Given the description of an element on the screen output the (x, y) to click on. 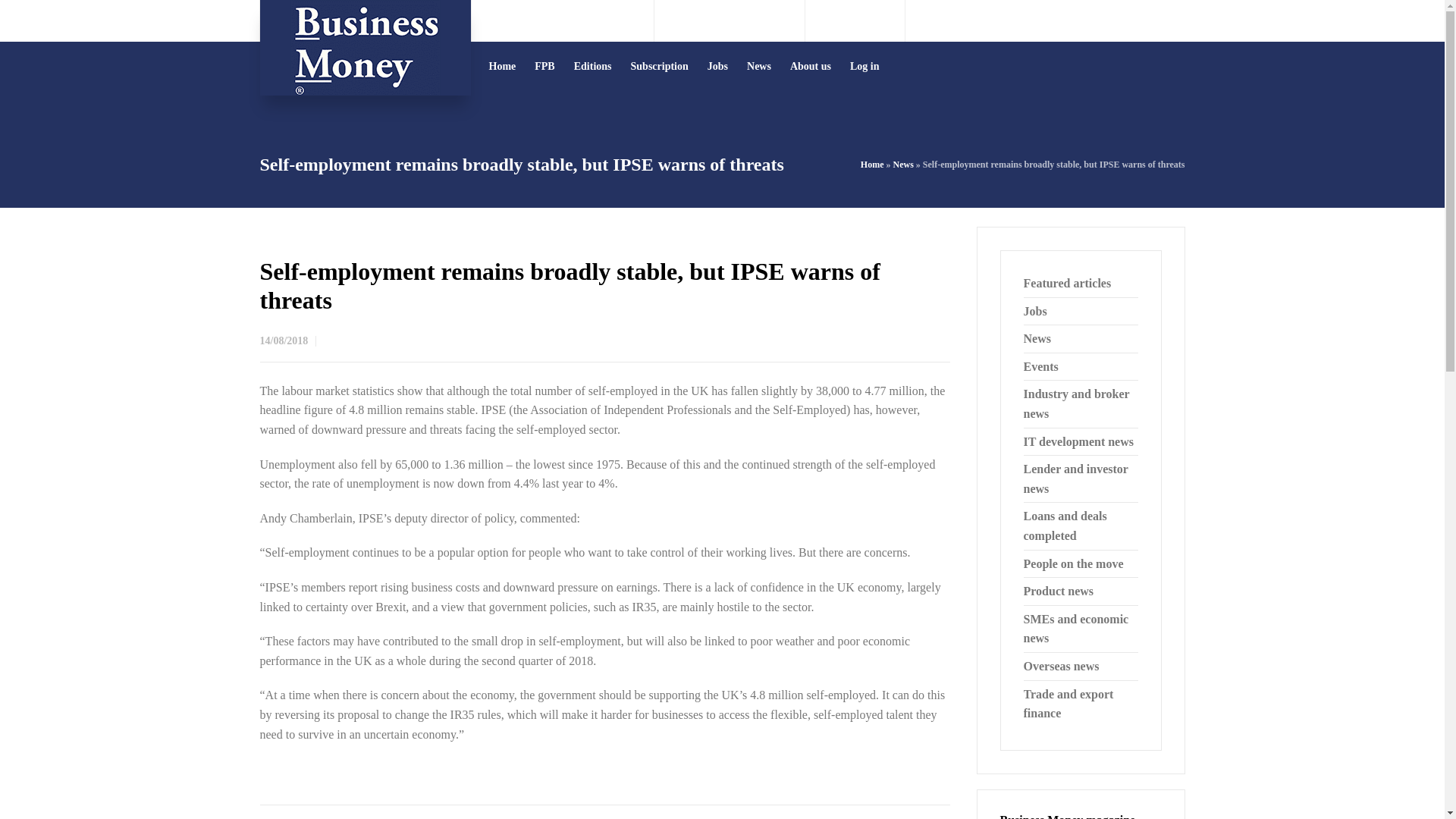
Facebook (855, 20)
News (902, 163)
Linkedin (876, 20)
click to call (742, 19)
Business Money (364, 47)
Log in (865, 65)
Home (871, 163)
About us (810, 65)
Subscription (659, 65)
My account (1158, 20)
